Given the description of an element on the screen output the (x, y) to click on. 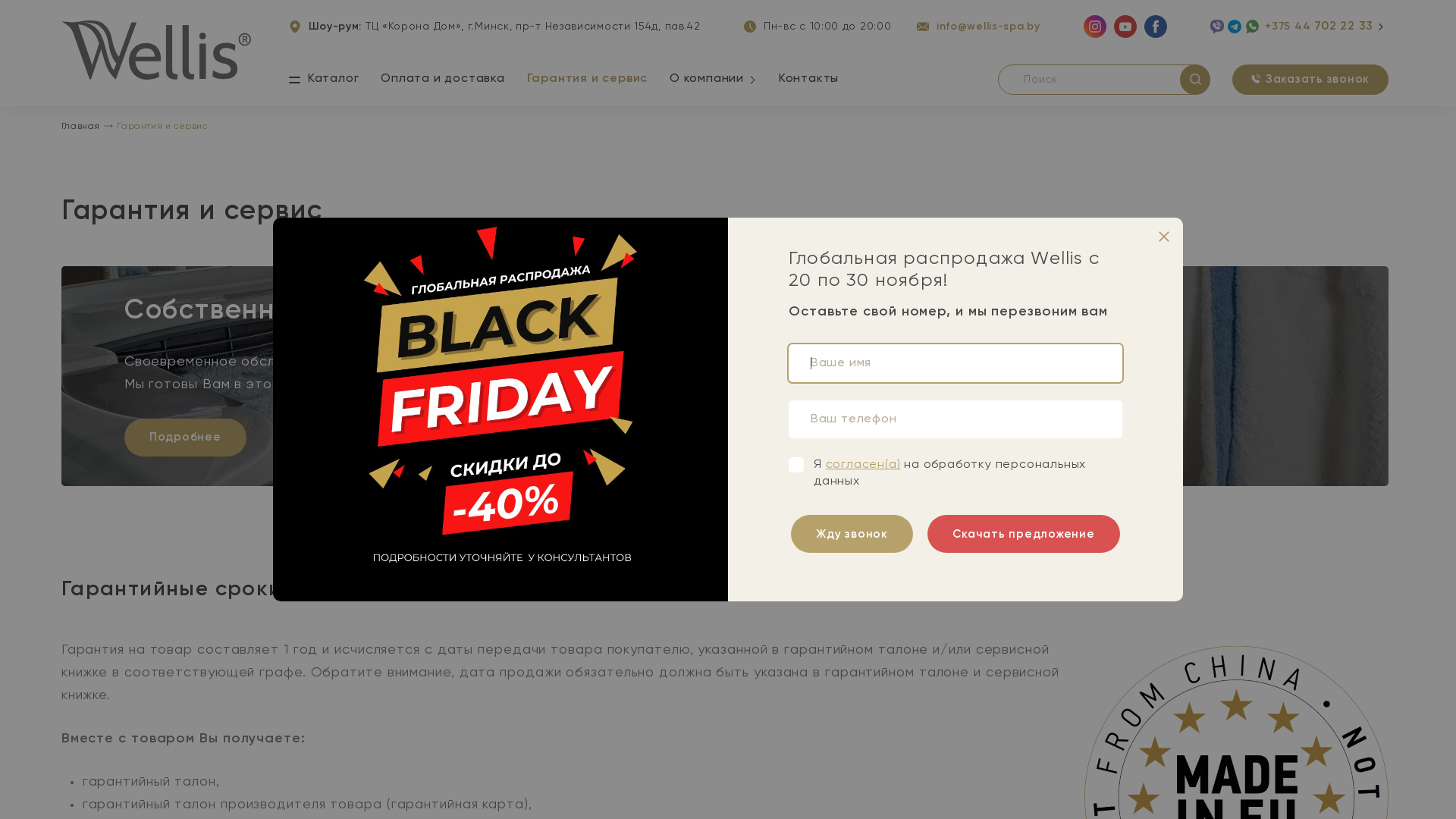
WhatsApp Element type: text (1251, 26)
+375 44 702 22 33 Element type: text (1318, 26)
info@wellis-spa.by Element type: text (978, 26)
Viber Element type: text (1216, 26)
Telegram Element type: text (1234, 26)
Facebook Element type: text (1155, 26)
YouTube Element type: text (1124, 26)
